Given the description of an element on the screen output the (x, y) to click on. 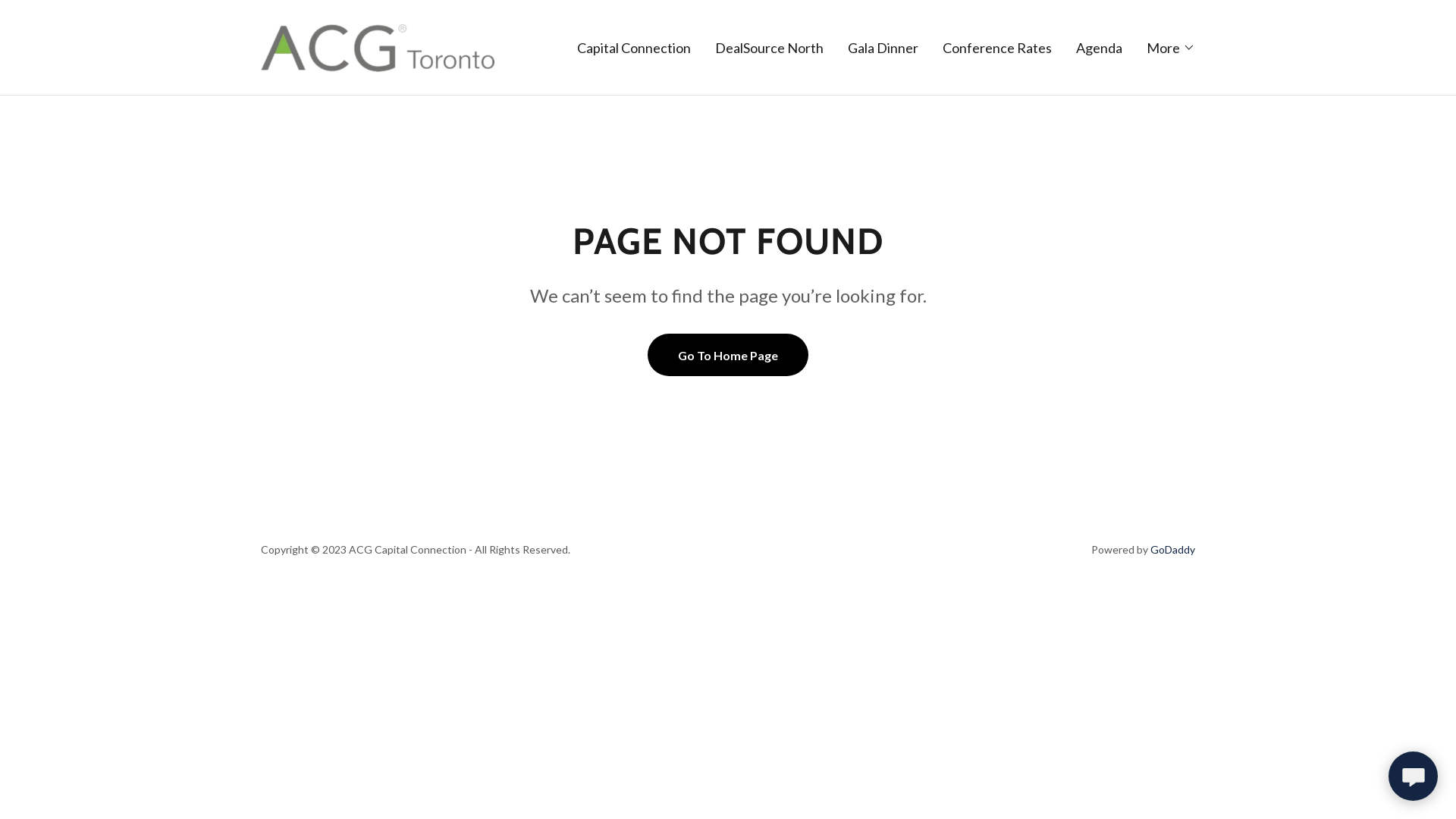
Capital Connection Element type: text (633, 46)
Conference Rates Element type: text (997, 46)
More Element type: text (1170, 46)
ACG Capital Connection Element type: hover (377, 45)
DealSource North Element type: text (769, 46)
Agenda Element type: text (1098, 46)
Go To Home Page Element type: text (727, 354)
Gala Dinner Element type: text (882, 46)
GoDaddy Element type: text (1172, 548)
